Given the description of an element on the screen output the (x, y) to click on. 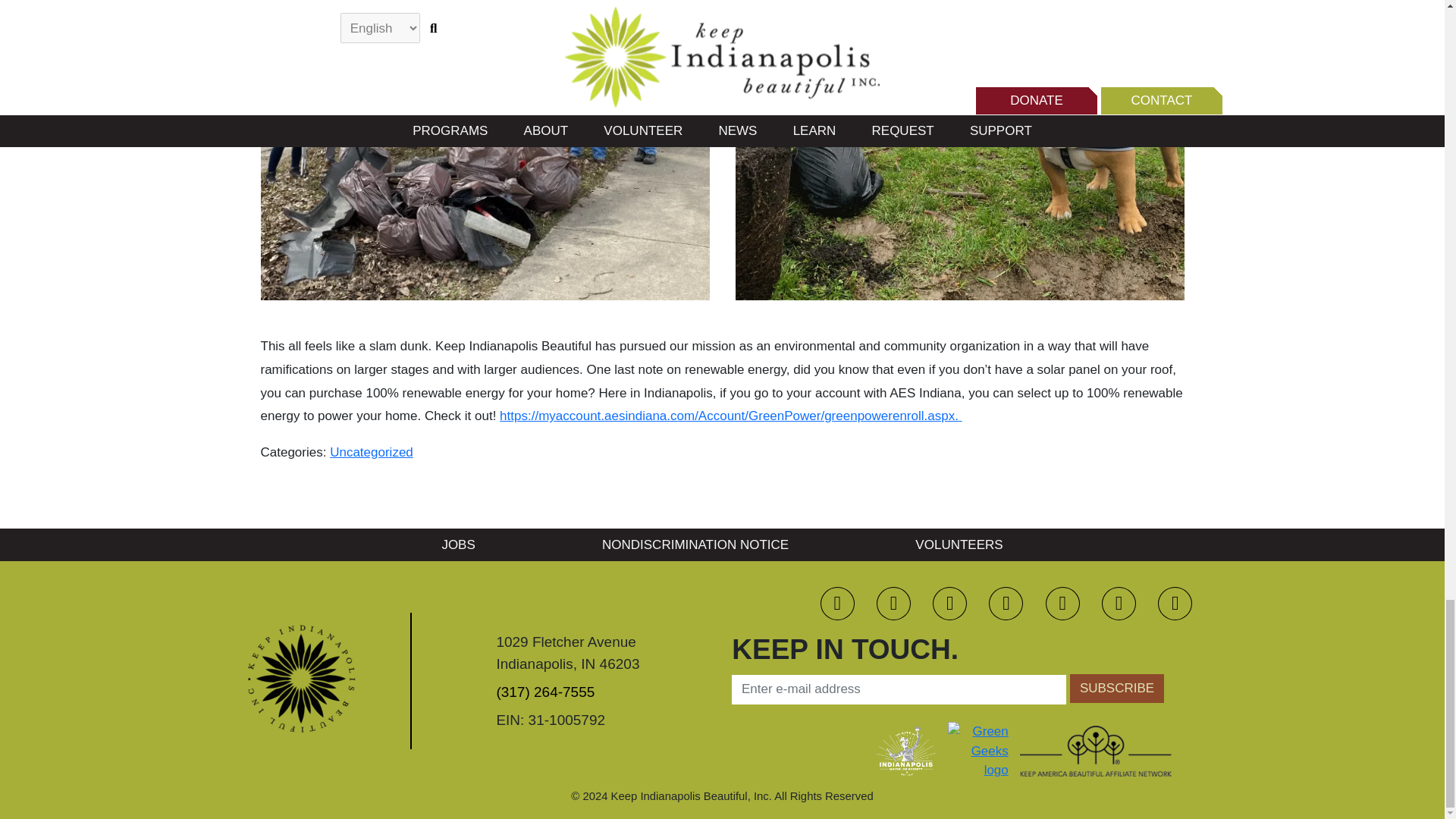
Subscribe (1116, 688)
